Given the description of an element on the screen output the (x, y) to click on. 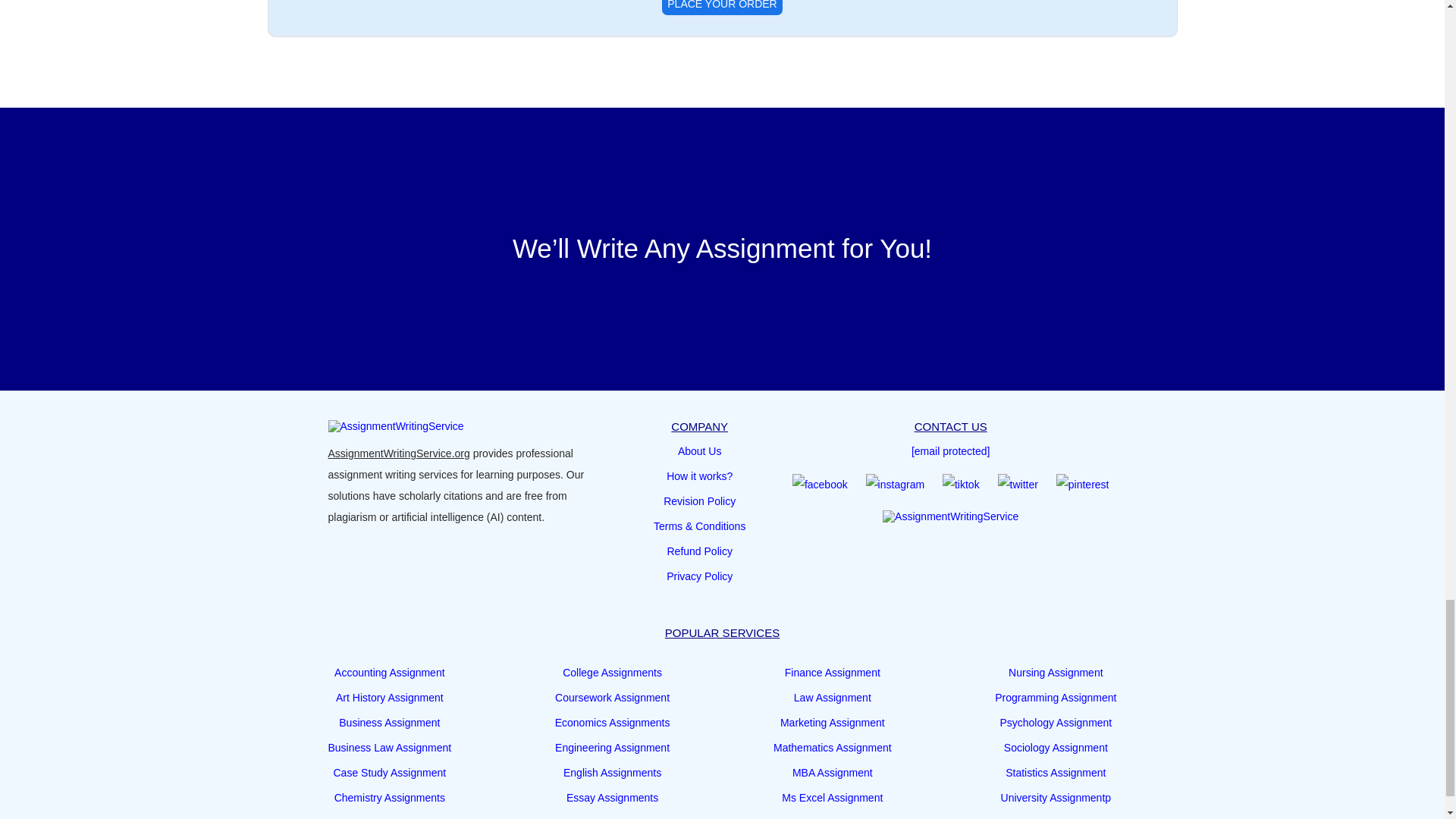
Case Study Assignment (389, 772)
Revision Policy (699, 500)
About Us (700, 450)
Art History Assignment (390, 697)
How it works? (699, 476)
Refund Policy (699, 550)
Business Law Assignment (389, 747)
Business Assignment (389, 722)
Accounting Assignment (389, 672)
Chemistry Assignments (389, 797)
